Given the description of an element on the screen output the (x, y) to click on. 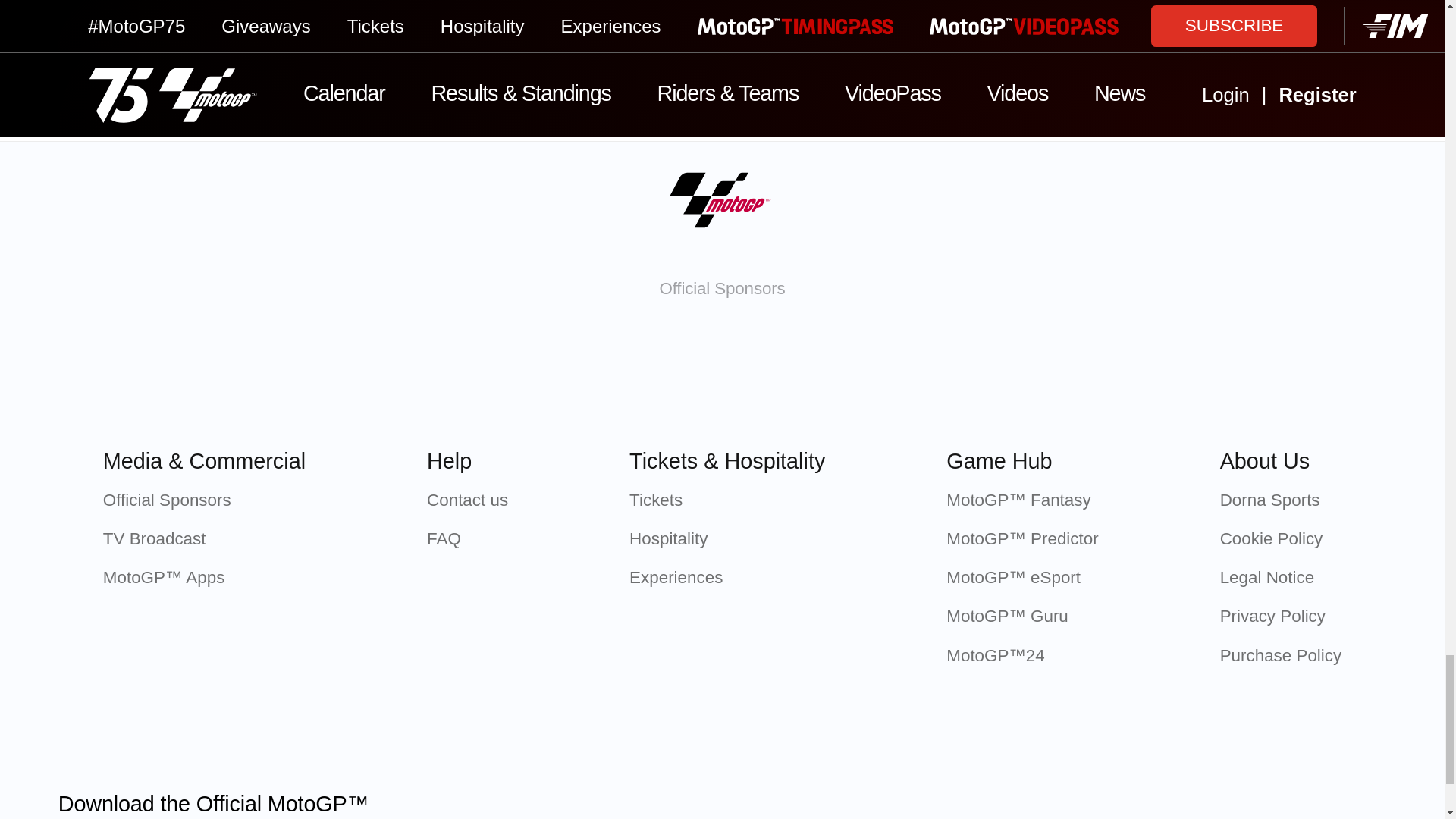
BMW M (802, 359)
TISSOT (481, 359)
MICHELIN (642, 359)
QATAR (321, 359)
DHL (1122, 359)
ESTRELLA GALICIA (962, 359)
